Given the description of an element on the screen output the (x, y) to click on. 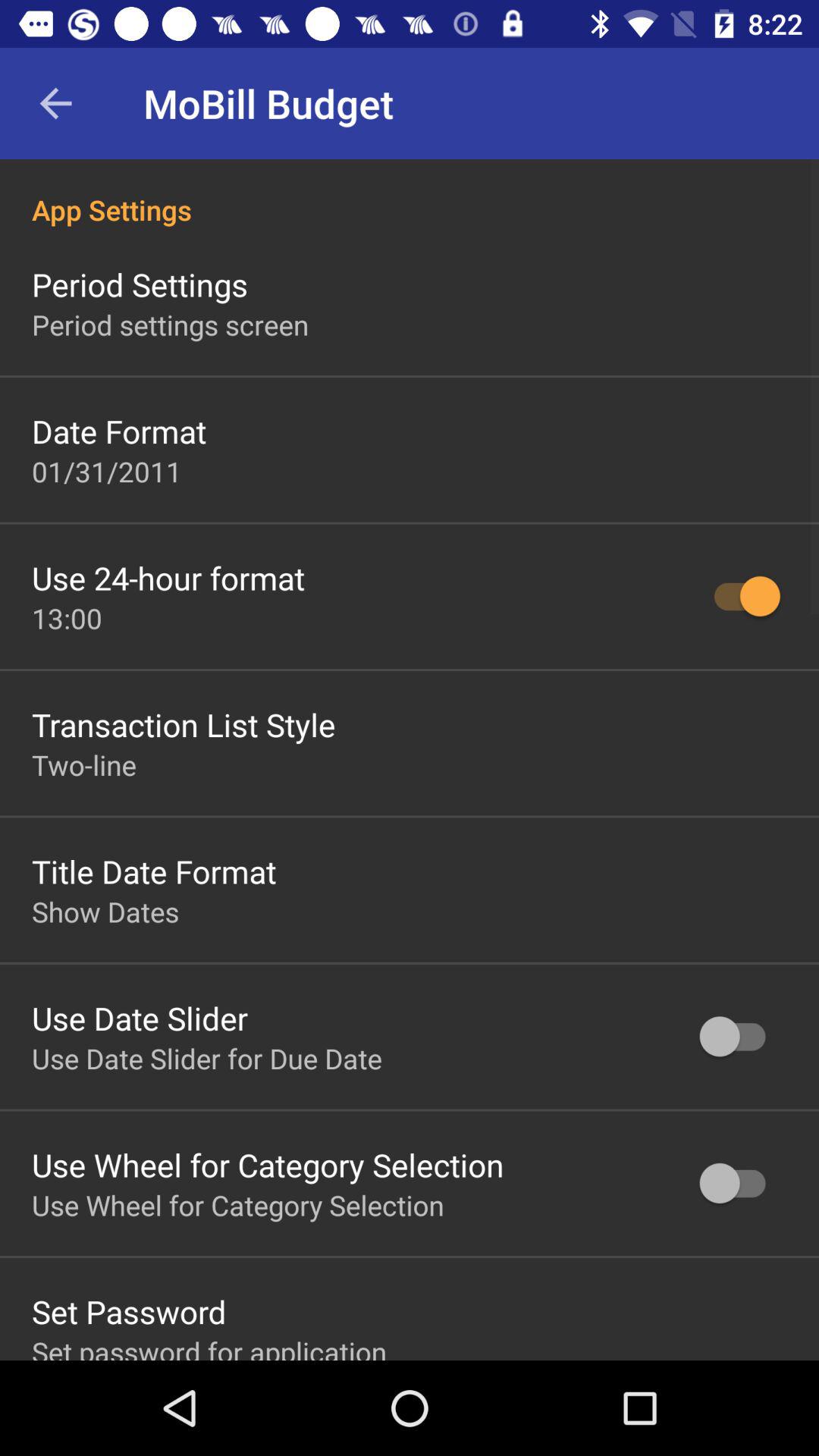
select icon below transaction list style (83, 764)
